Given the description of an element on the screen output the (x, y) to click on. 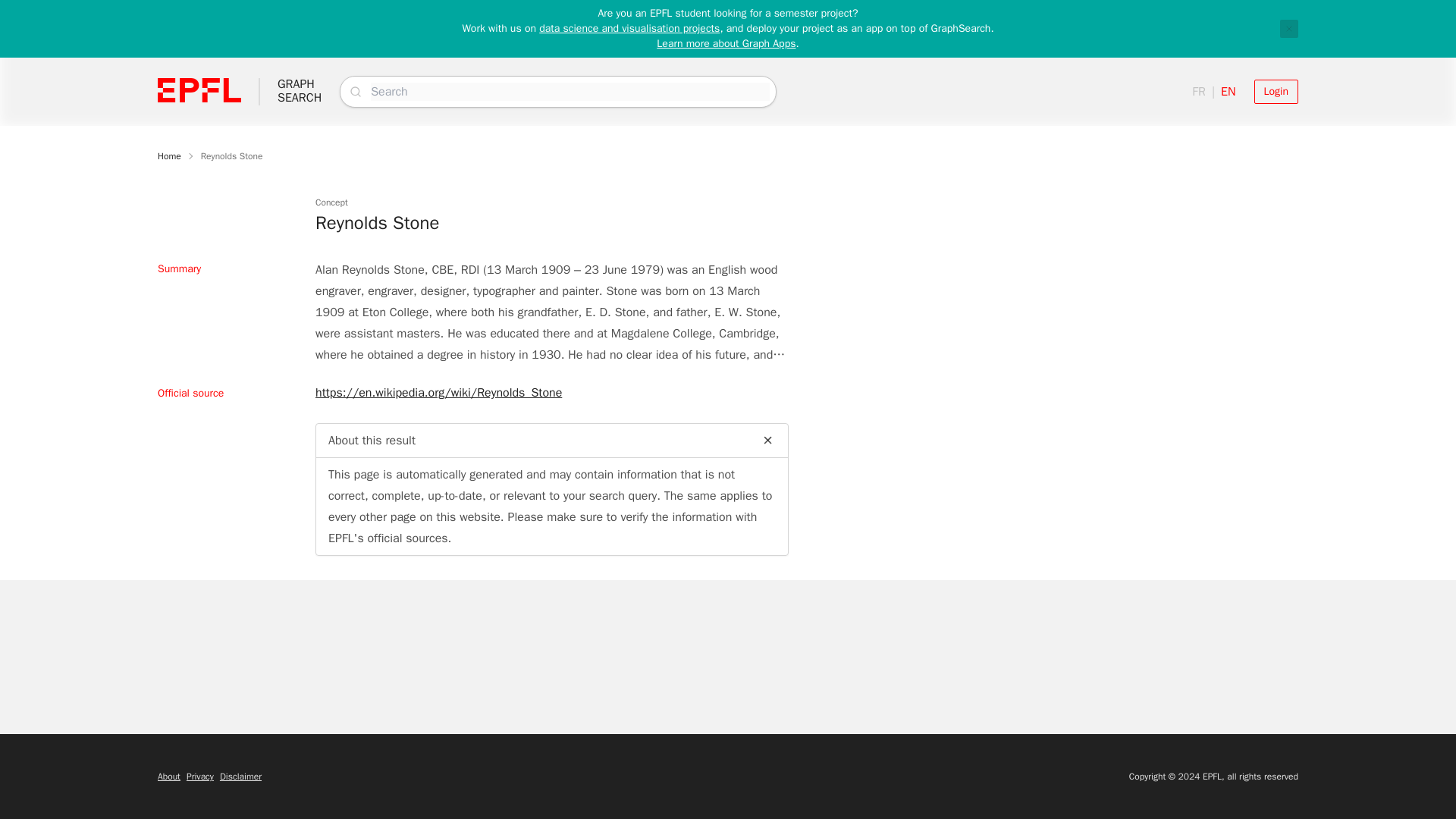
Reynolds Stone (231, 155)
data science and visualisation projects (628, 28)
Disclaimer (240, 776)
Learn more about Graph Apps (725, 42)
About (168, 776)
Privacy (200, 776)
Login (1275, 91)
Close notification (1288, 28)
Home (299, 90)
